Given the description of an element on the screen output the (x, y) to click on. 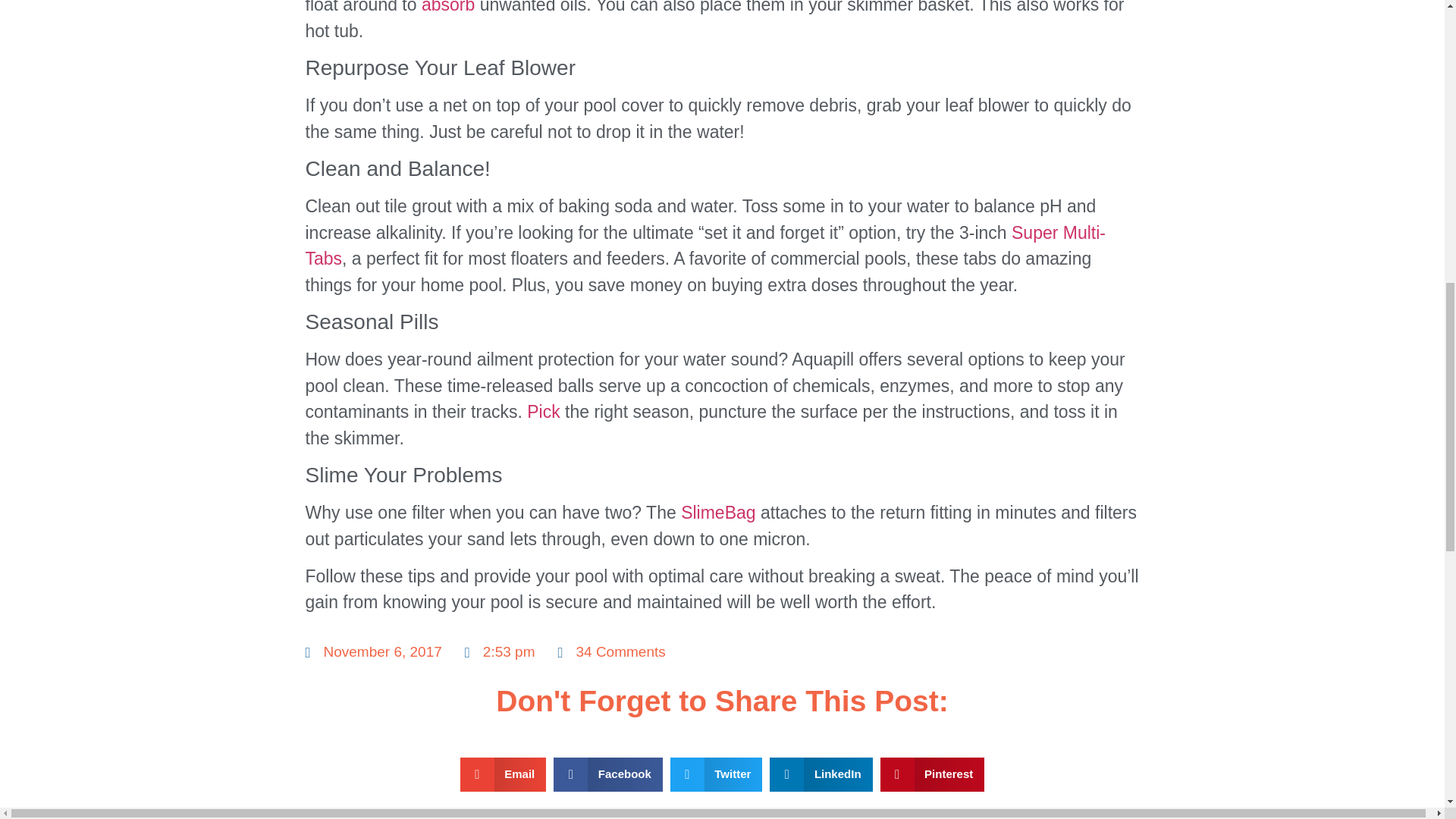
November 6, 2017 (372, 652)
Super Multi-Tabs (704, 245)
Pick (543, 411)
SlimeBag (718, 512)
absorb (448, 7)
34 Comments (611, 652)
